Given the description of an element on the screen output the (x, y) to click on. 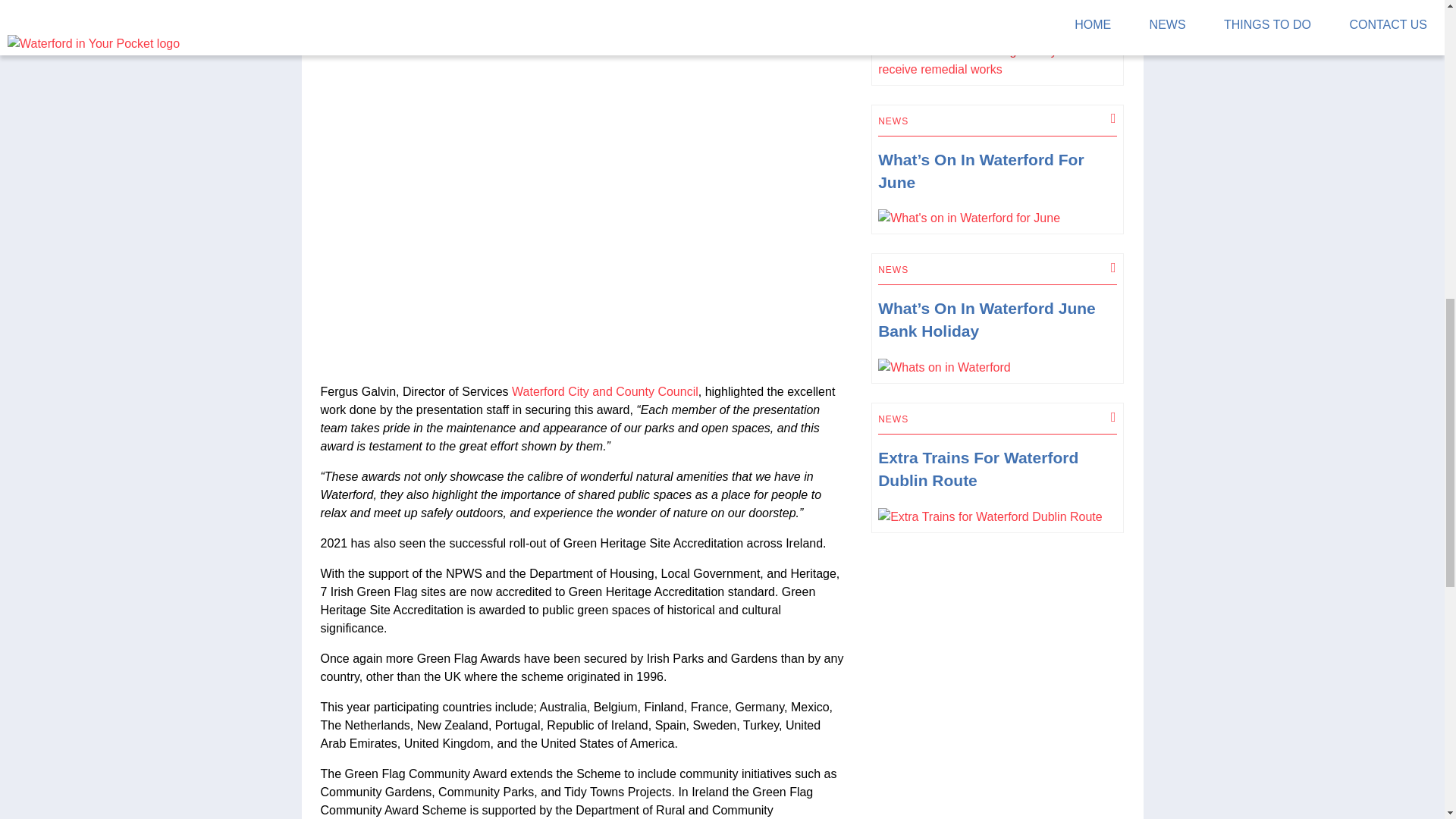
Extra Trains For Waterford Dublin Route (977, 468)
NEWS (892, 121)
NEWS (892, 419)
NEWS (892, 269)
Waterford City and County Council (605, 391)
